Given the description of an element on the screen output the (x, y) to click on. 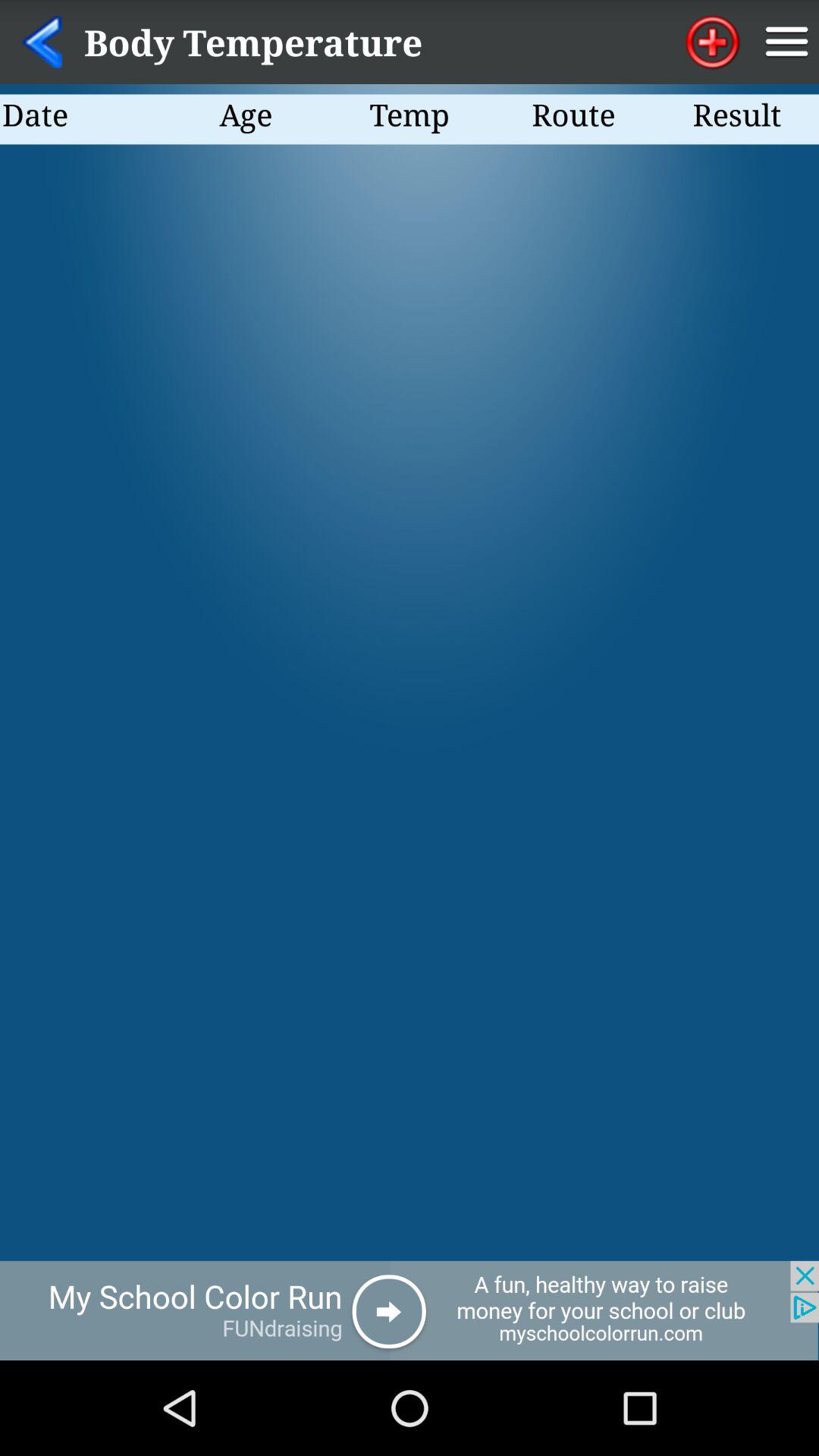
go back (409, 1310)
